Given the description of an element on the screen output the (x, y) to click on. 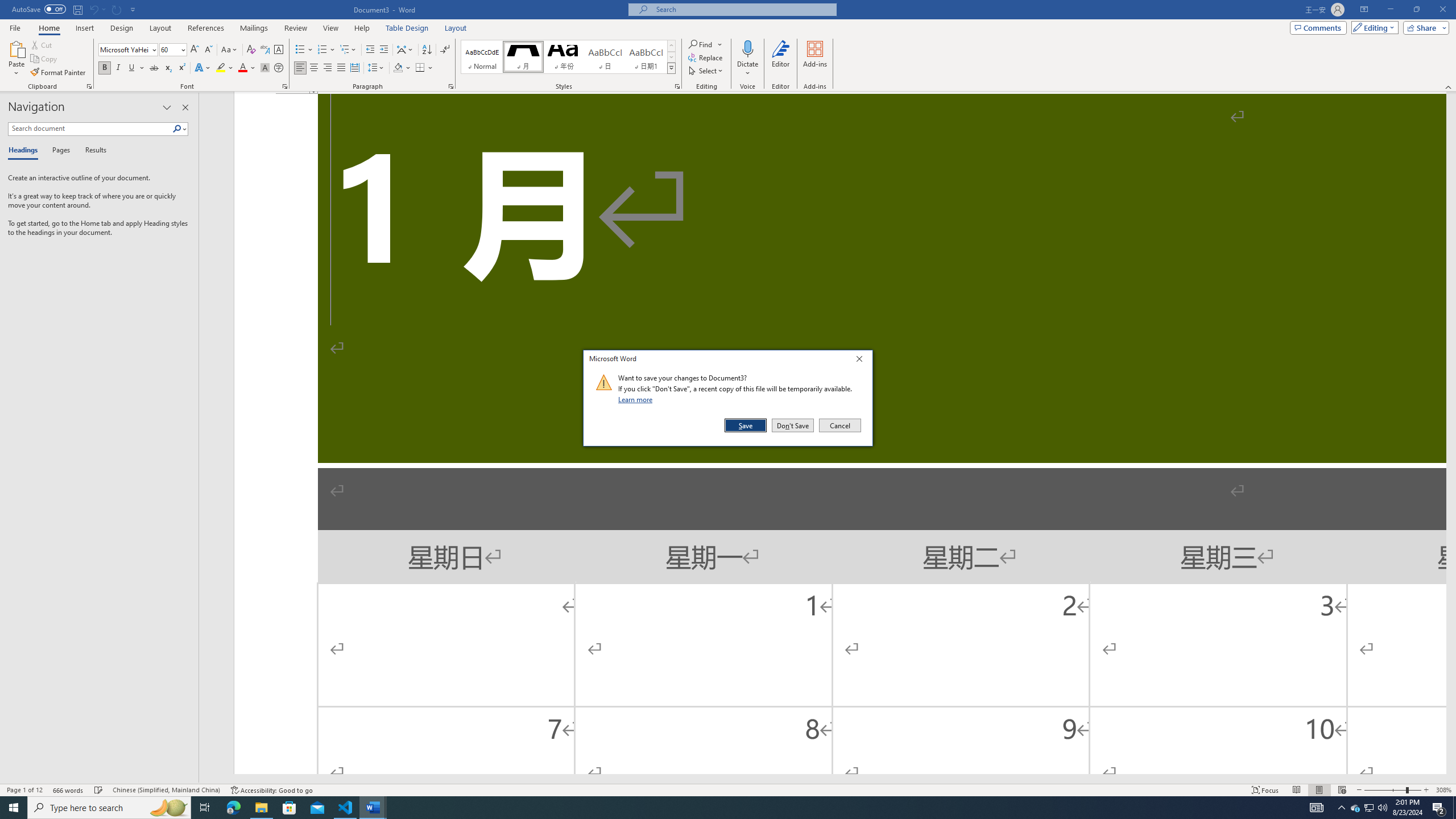
Zoom In (1426, 790)
File Tab (15, 27)
Class: MsoCommandBar (728, 789)
Center (313, 67)
Layout (455, 28)
Search highlights icon opens search home window (167, 807)
Close (862, 360)
Font Size (172, 49)
Open (182, 49)
Decrease Indent (370, 49)
Word Count 666 words (68, 790)
Dictate (747, 58)
File Explorer - 1 running window (261, 807)
Font (124, 49)
Underline (131, 67)
